Given the description of an element on the screen output the (x, y) to click on. 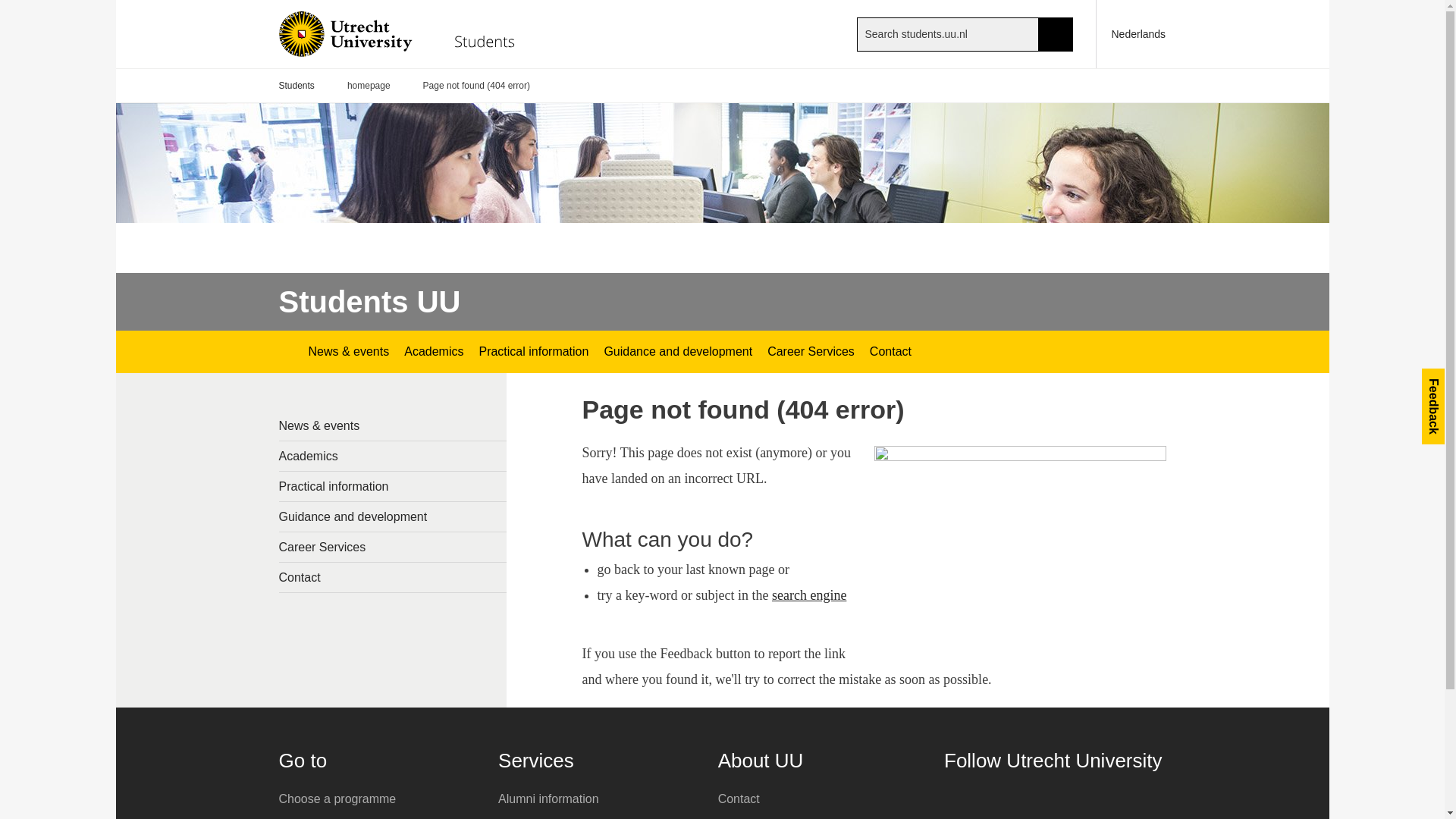
Nederlands (1131, 33)
Guidance and development (677, 351)
Contact (889, 351)
Practical information (532, 351)
Practical information (392, 486)
Students UU (370, 301)
Skip to main content (7, 7)
Academics (392, 455)
search engine (808, 595)
Academics (433, 351)
